Given the description of an element on the screen output the (x, y) to click on. 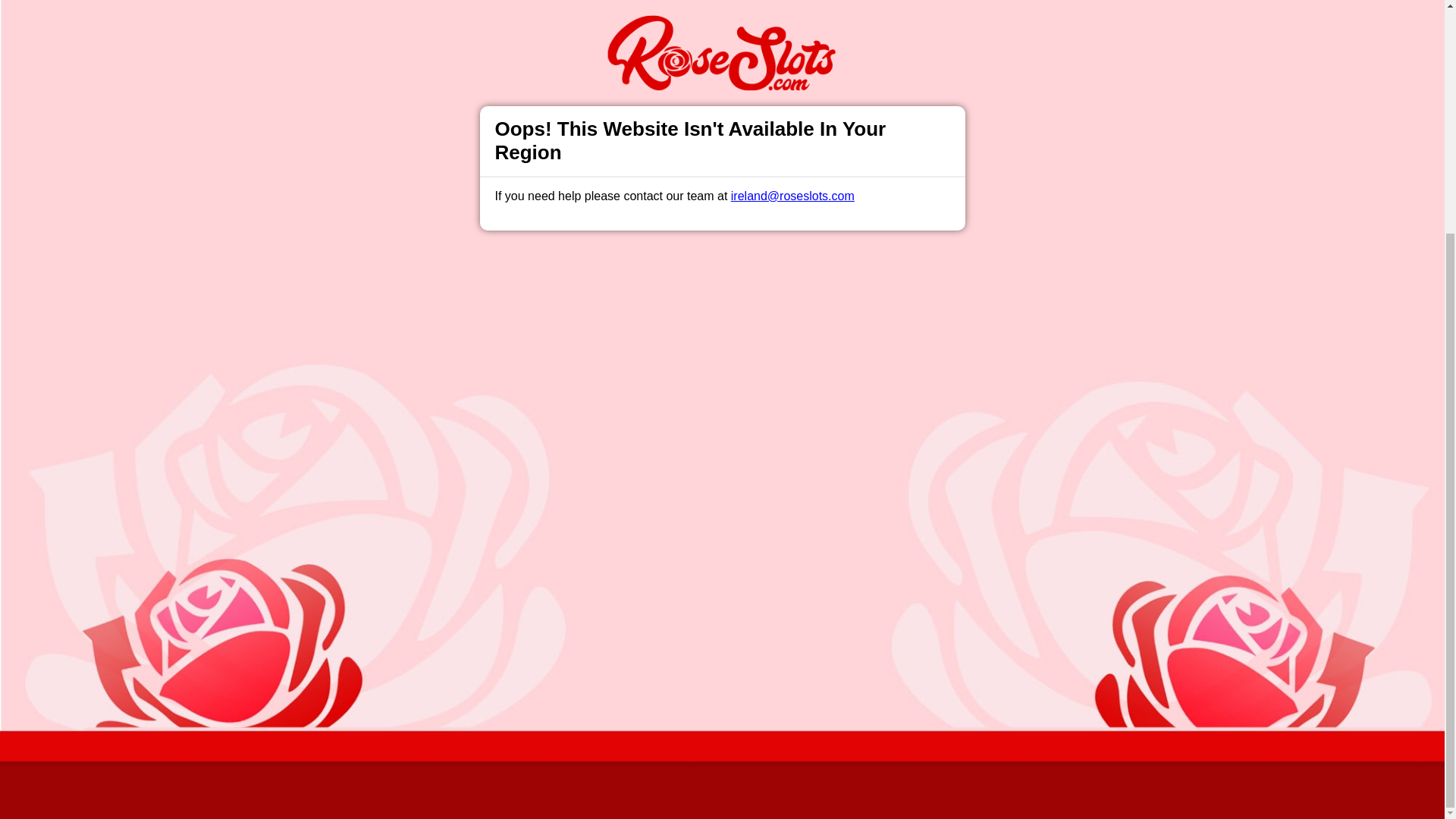
Help (489, 502)
www.jumpmancares.co.uk (616, 668)
Privacy Policy (671, 502)
Back To All Games (722, 404)
Responsible Gaming (407, 502)
Jumpman Gaming Limited (528, 705)
Affiliates (791, 502)
Cookie Policy (800, 482)
Back To All Games (721, 404)
Blog (738, 502)
